Given the description of an element on the screen output the (x, y) to click on. 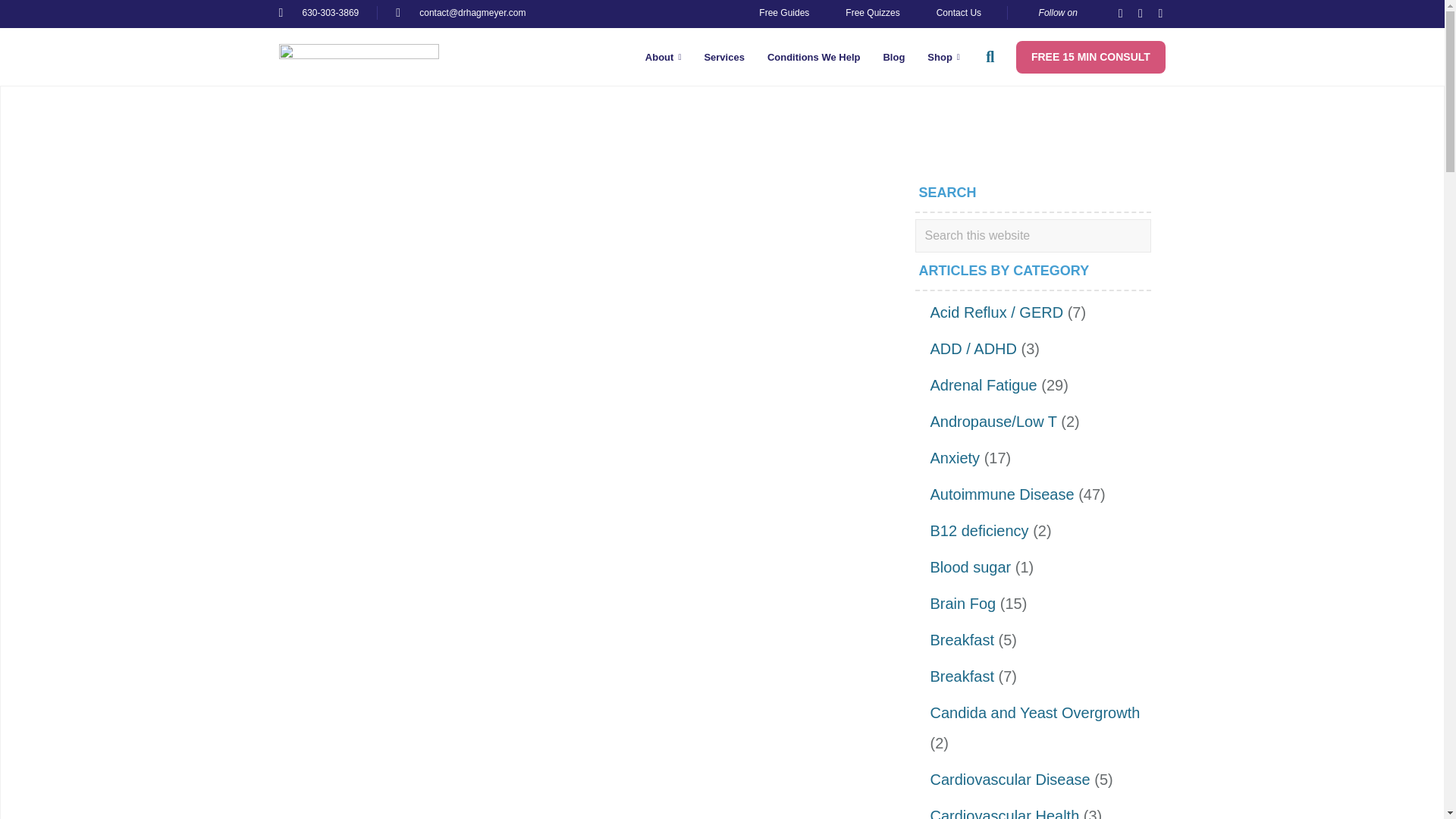
Contact Us (958, 12)
Free Quizzes (872, 12)
630-303-3869 (319, 12)
Shop (943, 56)
Conditions We Help (813, 56)
Free Guides (784, 12)
Services (724, 56)
About (663, 56)
FREE 15 MIN CONSULT (1091, 56)
